Given the description of an element on the screen output the (x, y) to click on. 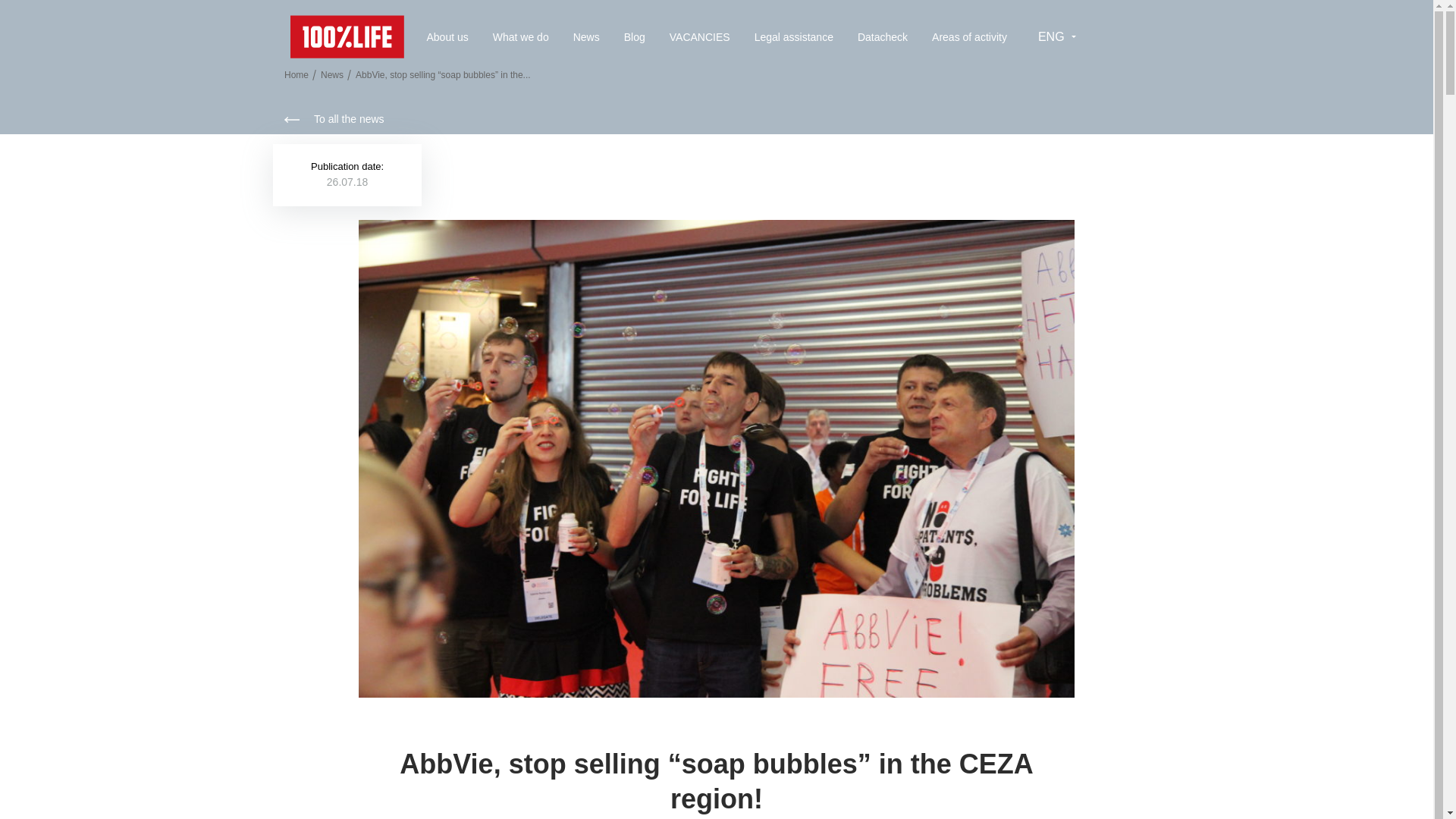
To all the news (333, 119)
Datacheck (882, 36)
VACANCIES (699, 36)
Areas of activity (969, 36)
Home (295, 74)
Legal assistance (793, 36)
What we do (520, 36)
Legal assistance (793, 36)
Blog (634, 36)
News (586, 36)
